Given the description of an element on the screen output the (x, y) to click on. 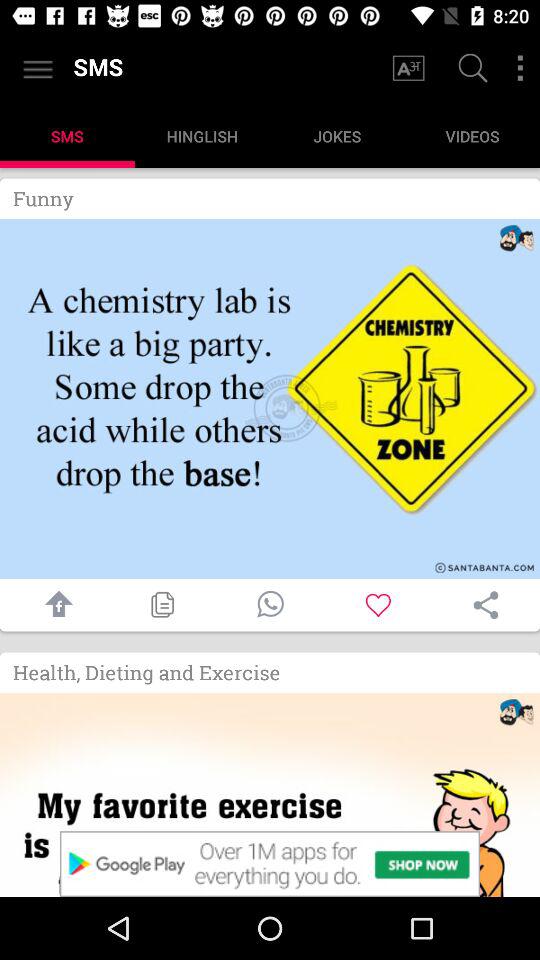
upload to facebook (54, 604)
